Given the description of an element on the screen output the (x, y) to click on. 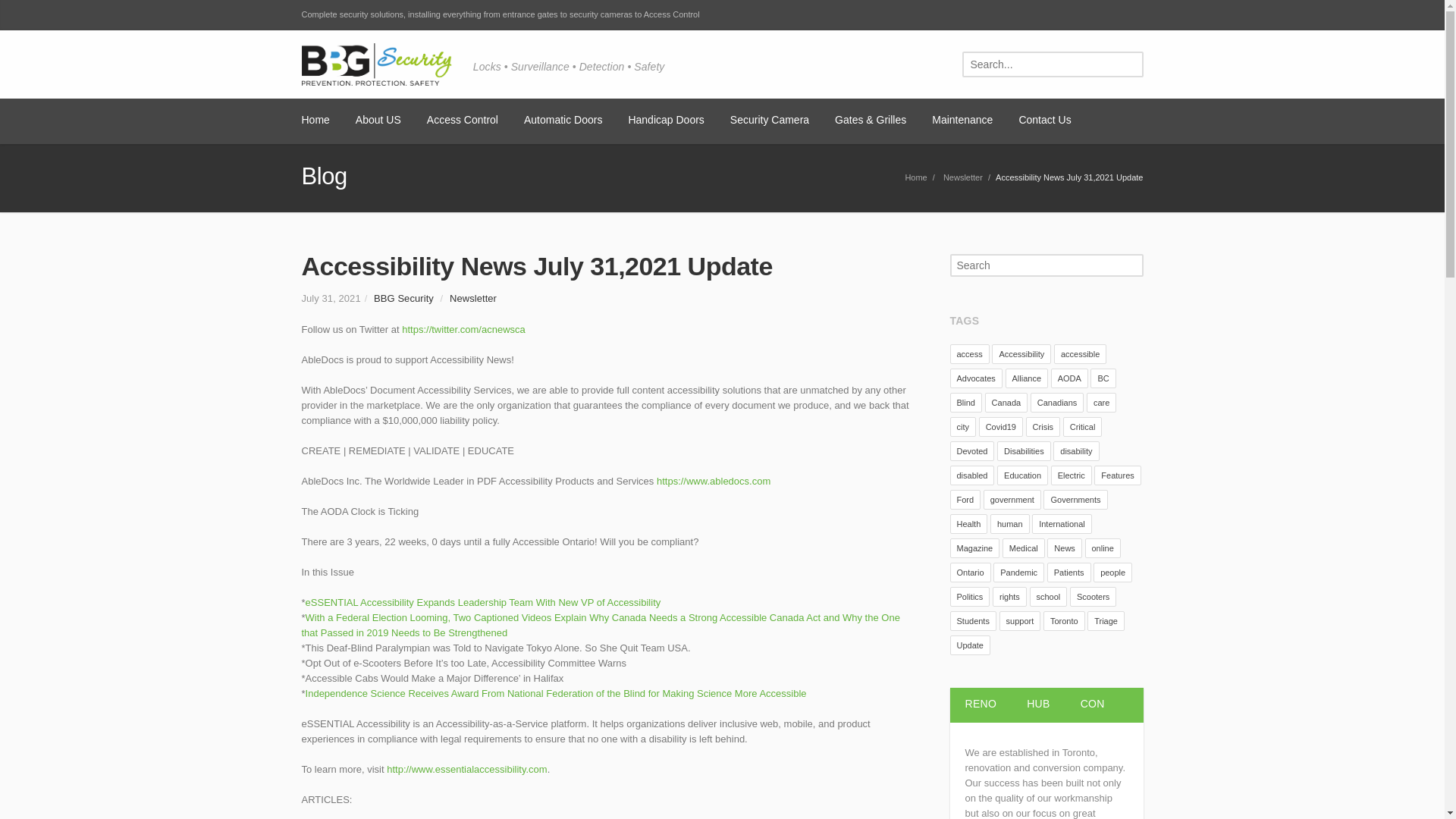
Handicap Doors (665, 121)
Security Camera (769, 121)
E-mail (1096, 15)
LinkedIn (904, 15)
Contact Us (1043, 121)
Automatic Doors (563, 121)
Twitter (842, 15)
Google Plus (873, 15)
Reddit (1064, 15)
